Given the description of an element on the screen output the (x, y) to click on. 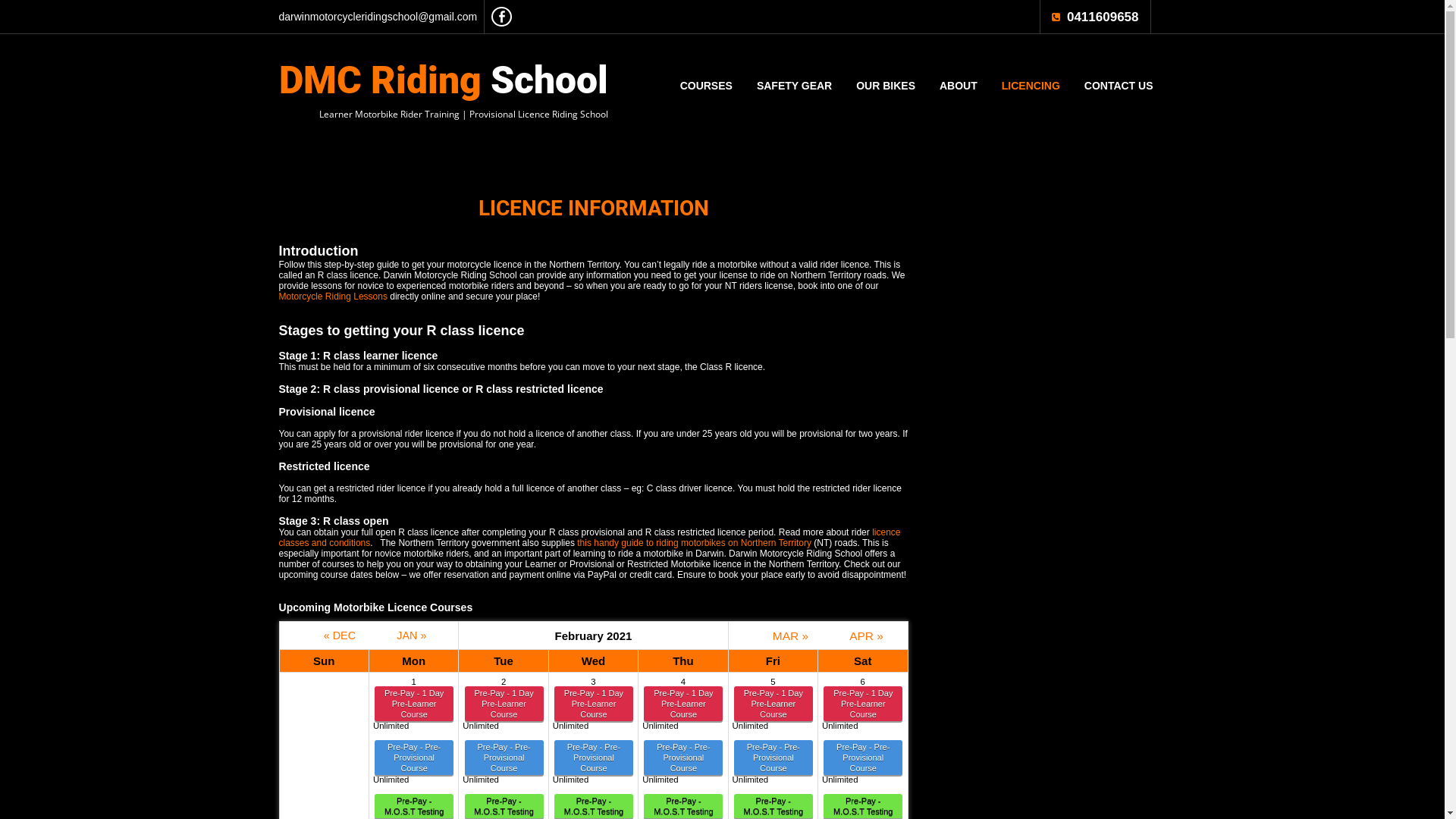
Pre-Pay - 1 Day Pre-Learner Course Element type: text (593, 703)
Pre-Pay - Pre-Provisional Course Element type: text (773, 757)
Pre-Pay - M.O.S.T Testing Element type: text (682, 805)
CONTACT US Element type: text (1118, 85)
SAFETY GEAR Element type: text (794, 85)
licence classes and conditions Element type: text (589, 537)
Pre-Pay - M.O.S.T Testing Element type: text (413, 805)
Pre-Pay - Pre-Provisional Course Element type: text (503, 757)
Pre-Pay - M.O.S.T Testing Element type: text (862, 805)
darwinmotorcycleridingschool@gmail.com Element type: text (378, 16)
Pre-Pay - 1 Day Pre-Learner Course Element type: text (413, 703)
Pre-Pay - Pre-Provisional Course Element type: text (862, 757)
this handy guide to riding motorbikes on Northern Territory Element type: text (694, 542)
Pre-Pay - M.O.S.T Testing Element type: text (503, 805)
Pre-Pay - 1 Day Pre-Learner Course Element type: text (503, 703)
Pre-Pay - 1 Day Pre-Learner Course Element type: text (682, 703)
Pre-Pay - Pre-Provisional Course Element type: text (593, 757)
Pre-Pay - Pre-Provisional Course Element type: text (682, 757)
COURSES Element type: text (705, 85)
Pre-Pay - 1 Day Pre-Learner Course Element type: text (862, 703)
ABOUT Element type: text (958, 85)
Motorcycle Riding Lessons Element type: text (333, 296)
Pre-Pay - M.O.S.T Testing Element type: text (773, 805)
LICENCING Element type: text (1030, 85)
Pre-Pay - 1 Day Pre-Learner Course Element type: text (773, 703)
Pre-Pay - Pre-Provisional Course Element type: text (413, 757)
Pre-Pay - M.O.S.T Testing Element type: text (593, 805)
OUR BIKES Element type: text (885, 85)
